Given the description of an element on the screen output the (x, y) to click on. 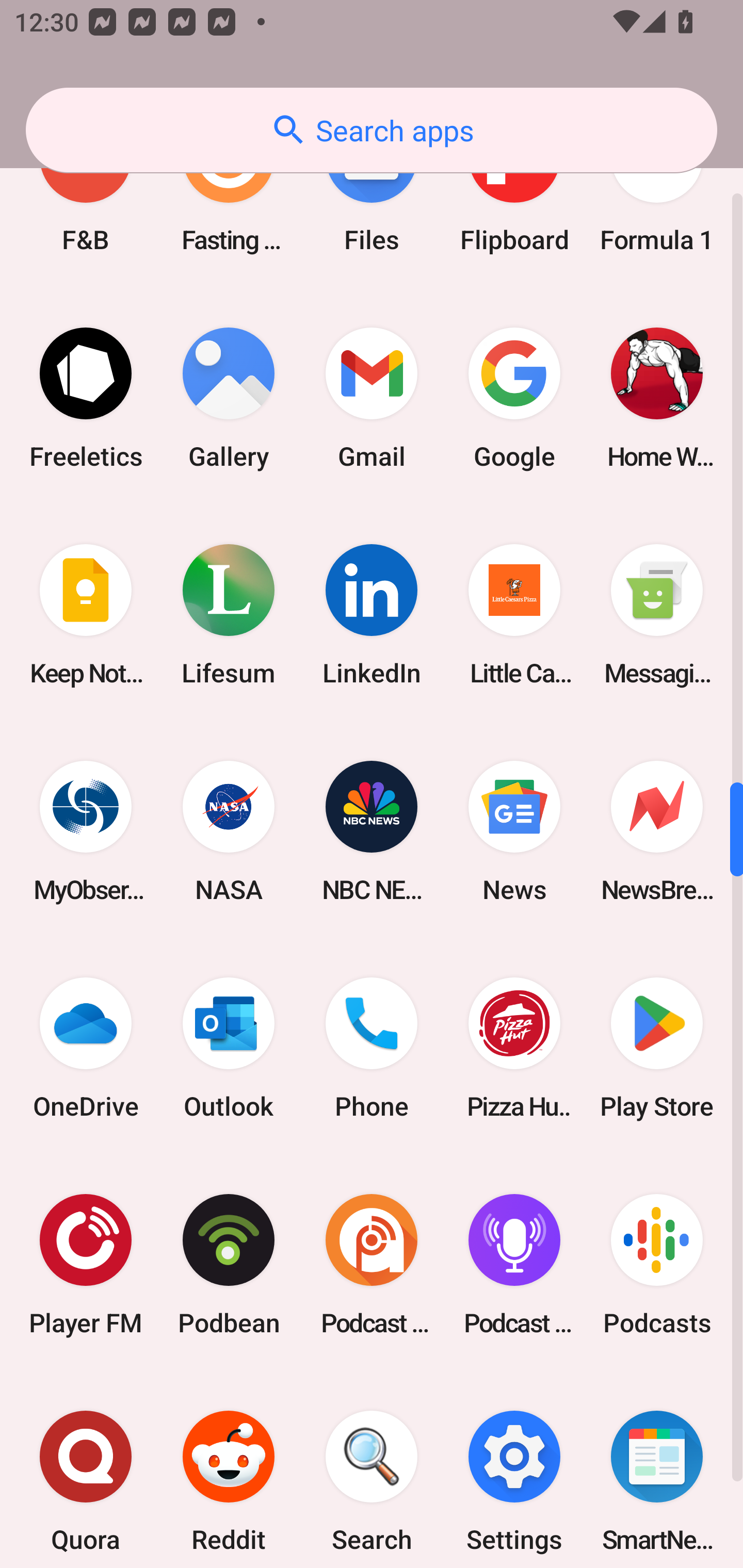
  Search apps (371, 130)
F&B (85, 196)
Fasting Coach (228, 196)
Files (371, 196)
Flipboard (514, 196)
Formula 1 (656, 196)
Freeletics (85, 398)
Gallery (228, 398)
Gmail (371, 398)
Google (514, 398)
Home Workout (656, 398)
Keep Notes (85, 614)
Lifesum (228, 614)
LinkedIn (371, 614)
Little Caesars Pizza (514, 614)
Messaging (656, 614)
MyObservatory (85, 830)
NASA (228, 830)
NBC NEWS (371, 830)
News (514, 830)
NewsBreak (656, 830)
OneDrive (85, 1048)
Outlook (228, 1048)
Phone (371, 1048)
Pizza Hut HK & Macau (514, 1048)
Play Store (656, 1048)
Player FM (85, 1265)
Podbean (228, 1265)
Podcast Addict (371, 1265)
Podcast Player (514, 1265)
Podcasts (656, 1265)
Quora (85, 1470)
Reddit (228, 1470)
Search (371, 1470)
Settings (514, 1470)
SmartNews (656, 1470)
